Given the description of an element on the screen output the (x, y) to click on. 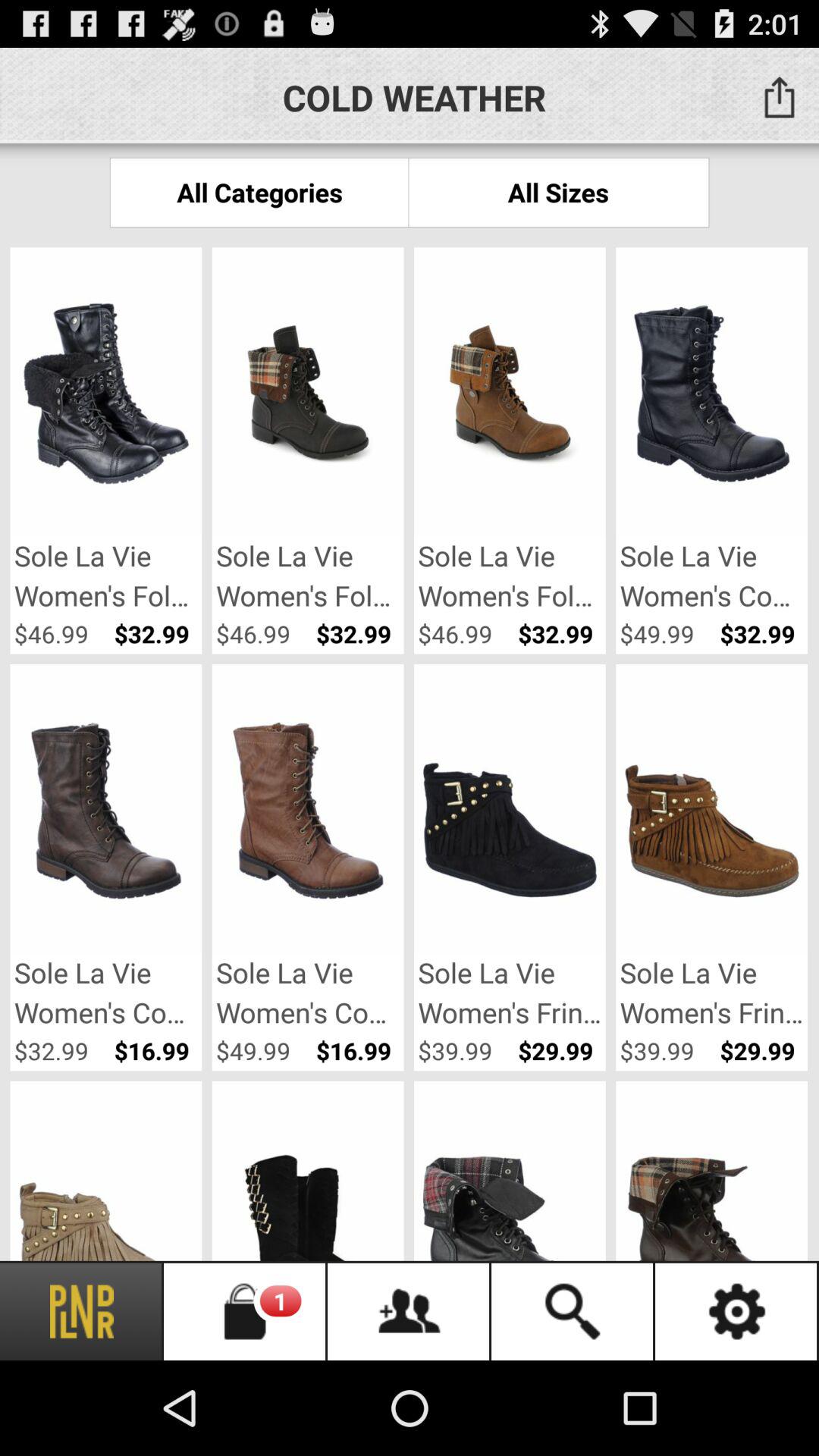
choose icon to the right of all categories icon (558, 192)
